Given the description of an element on the screen output the (x, y) to click on. 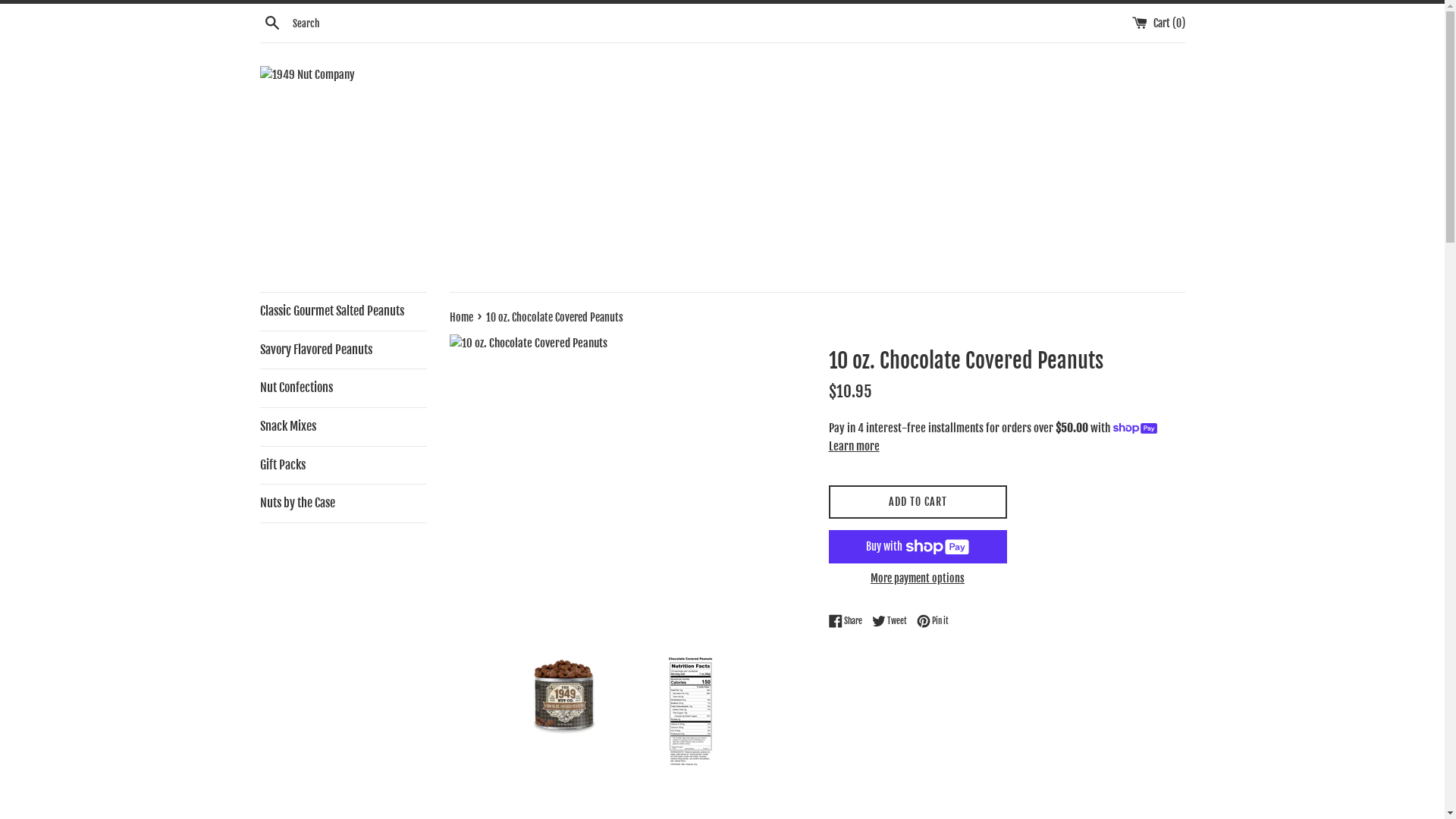
More payment options Element type: text (917, 578)
Gift Packs Element type: text (342, 465)
Home Element type: text (461, 316)
Classic Gourmet Salted Peanuts Element type: text (342, 311)
Pin it
Pin on Pinterest Element type: text (931, 620)
Snack Mixes Element type: text (342, 426)
Nut Confections Element type: text (342, 388)
ADD TO CART Element type: text (917, 502)
Share
Share on Facebook Element type: text (848, 620)
Search Element type: text (271, 23)
Tweet
Tweet on Twitter Element type: text (893, 620)
Savory Flavored Peanuts Element type: text (342, 350)
Nuts by the Case Element type: text (342, 503)
Cart (0) Element type: text (1157, 22)
